Given the description of an element on the screen output the (x, y) to click on. 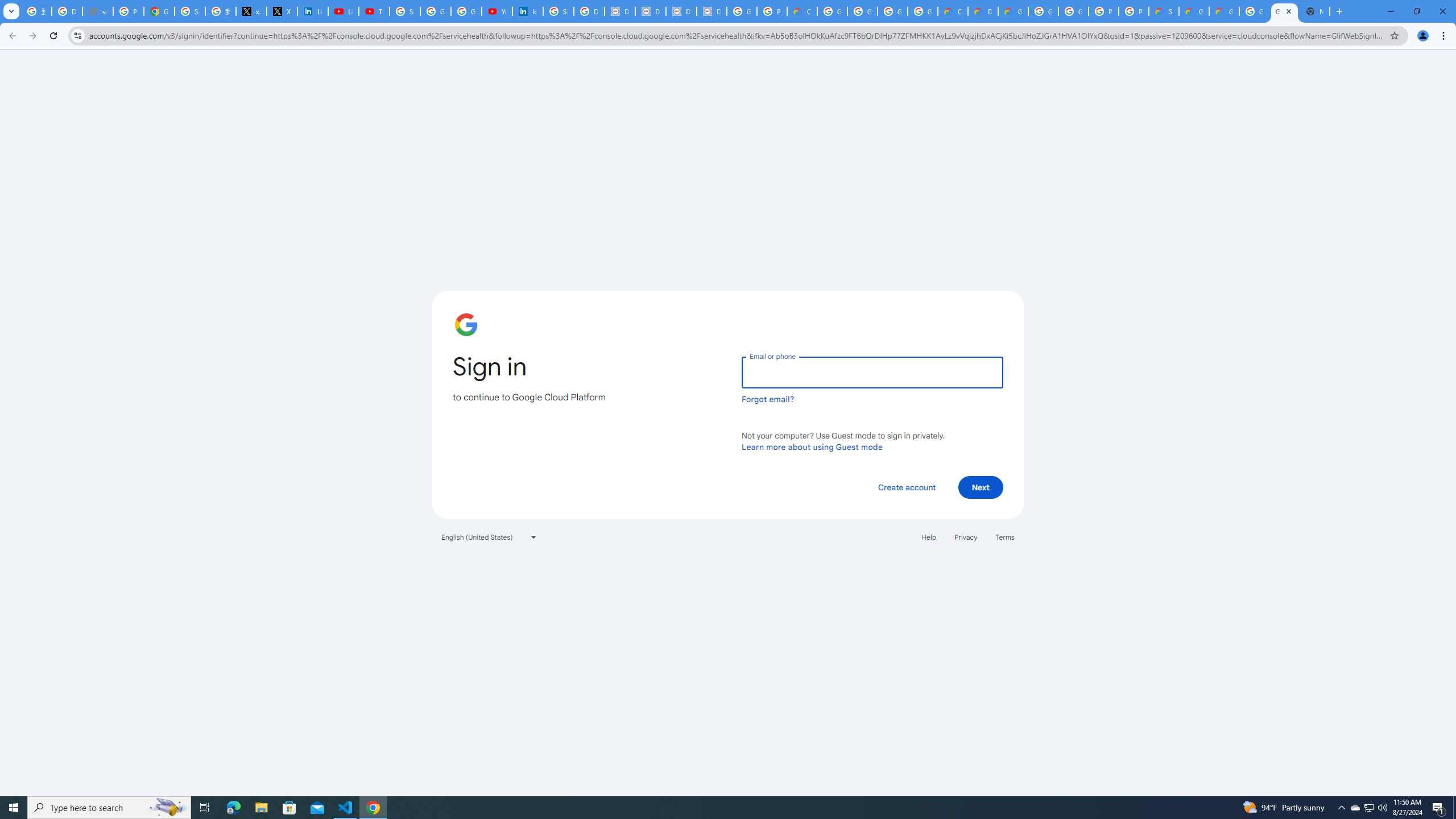
Sign in - Google Accounts (189, 11)
Privacy Help Center - Policies Help (127, 11)
Customer Care | Google Cloud (952, 11)
Data Privacy Framework (711, 11)
English (United States) (489, 536)
